Given the description of an element on the screen output the (x, y) to click on. 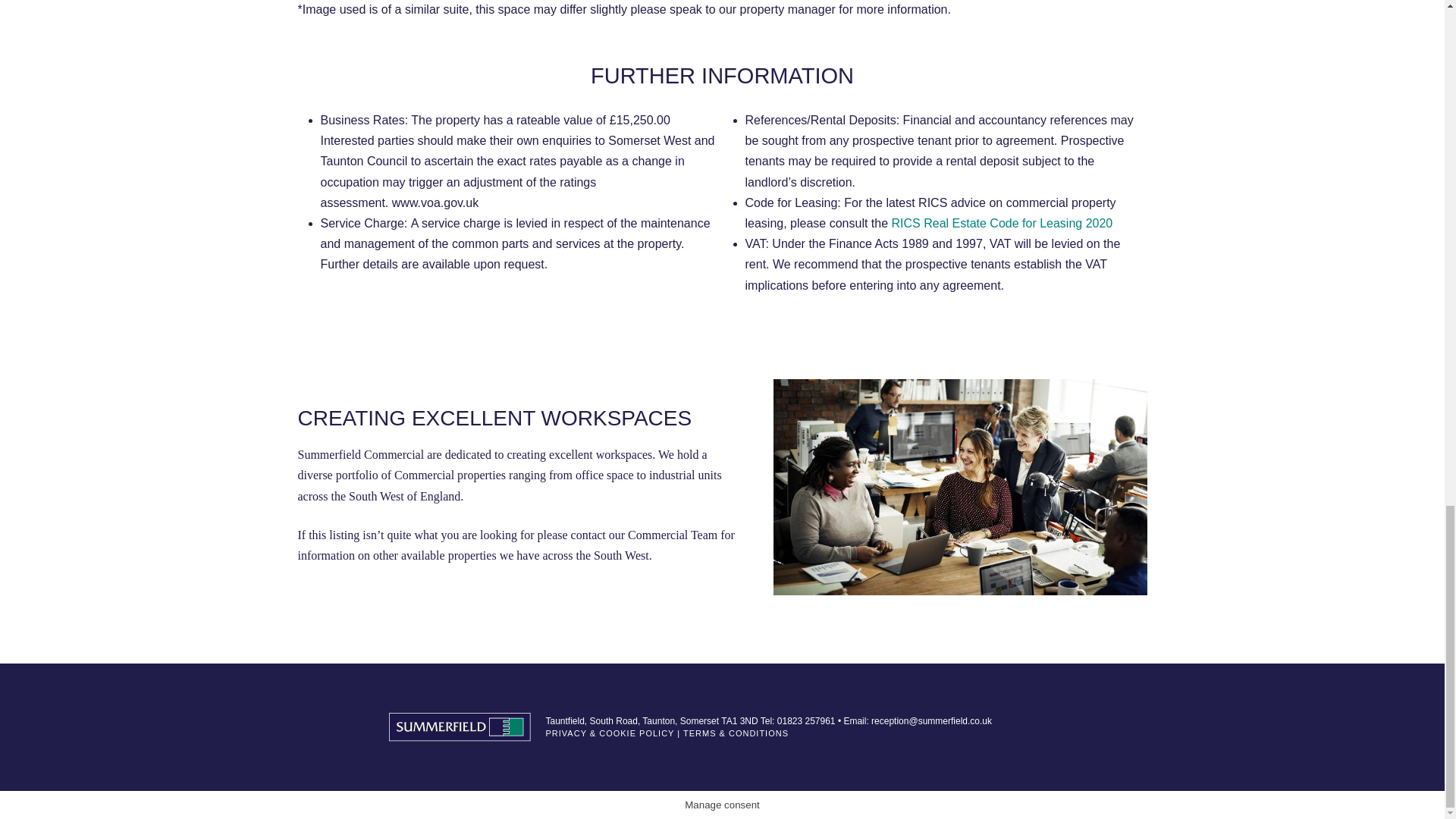
RICS Real Estate Code for Leasing 2020 (1002, 223)
www.voa.gov.uk (435, 202)
01823 257961 (806, 720)
